Given the description of an element on the screen output the (x, y) to click on. 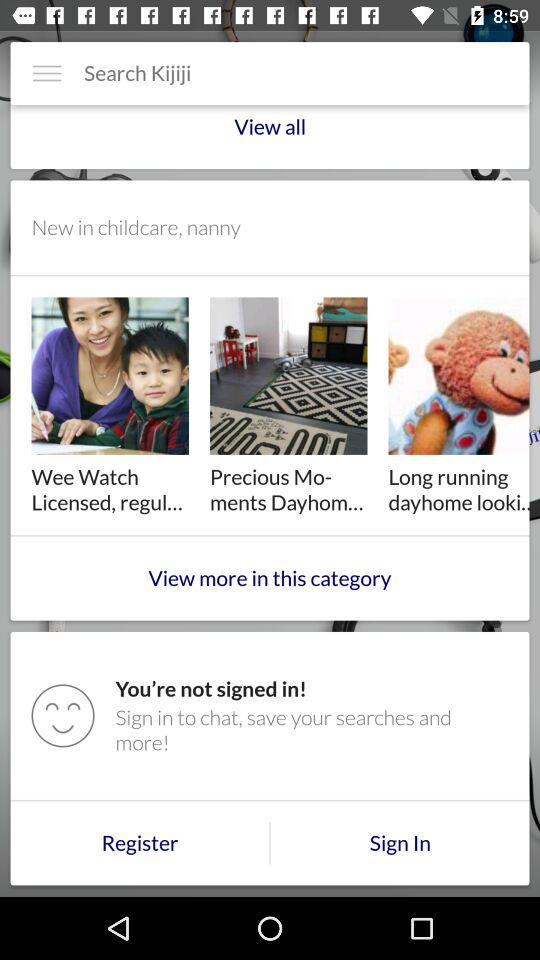
click the view all icon (269, 135)
